Given the description of an element on the screen output the (x, y) to click on. 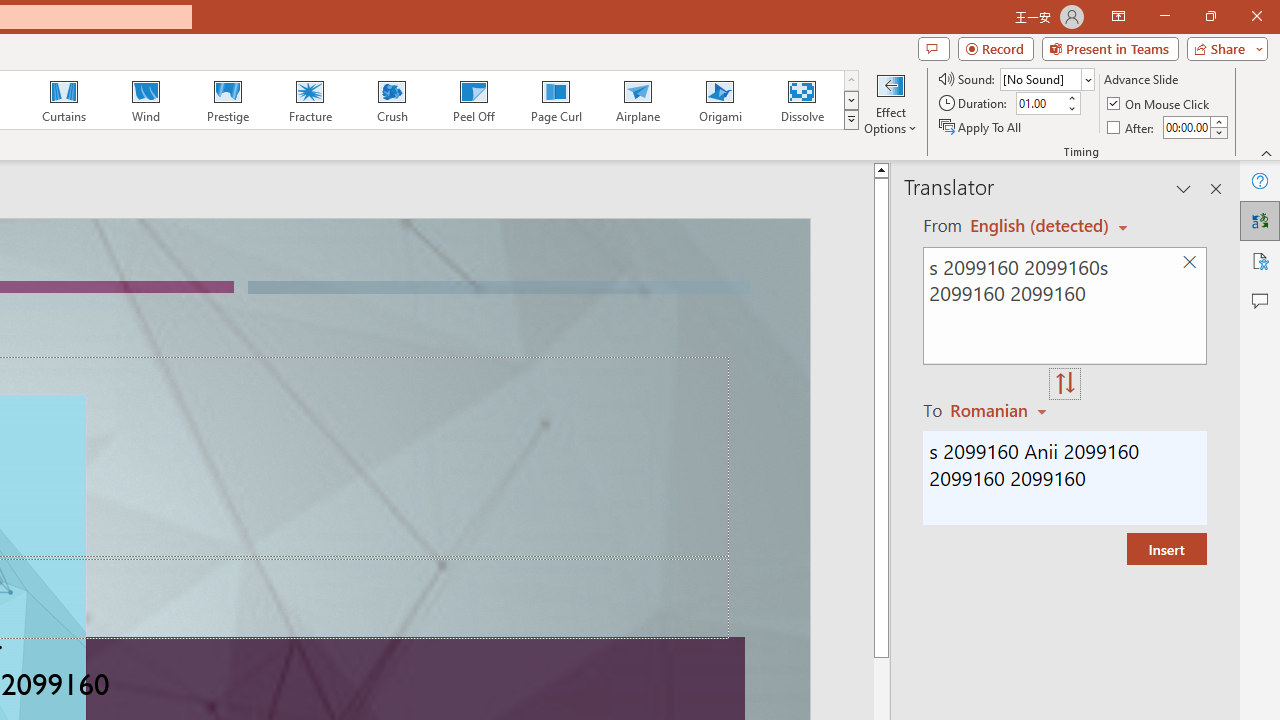
Apply To All (981, 126)
Swap "from" and "to" languages. (1065, 383)
Airplane (637, 100)
After (1186, 127)
Transition Effects (850, 120)
Page Curl (555, 100)
Origami (719, 100)
